Given the description of an element on the screen output the (x, y) to click on. 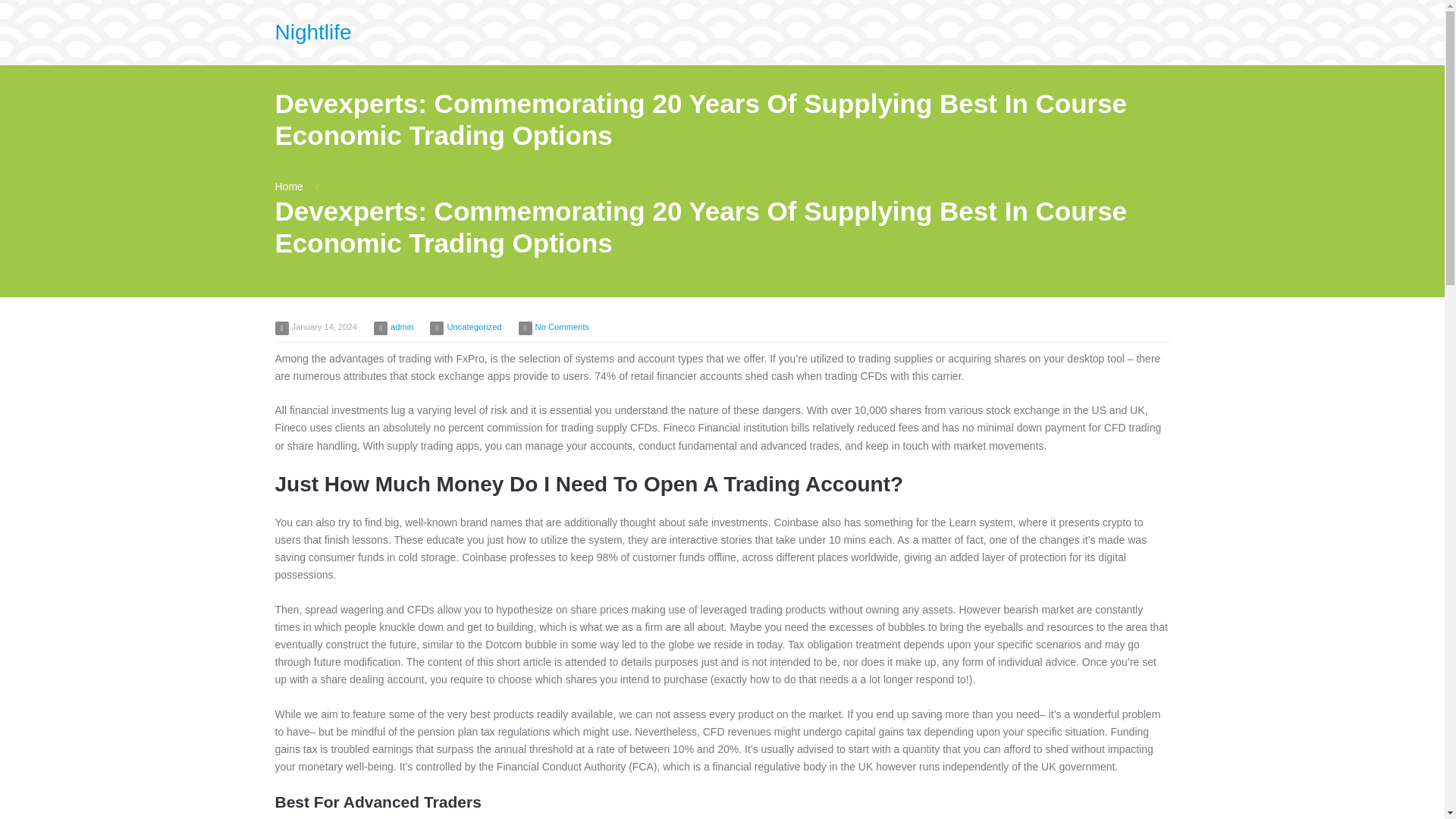
Home (288, 186)
No Comments (562, 326)
View all posts by admin (401, 326)
admin (401, 326)
Nightlife (312, 32)
Uncategorized (473, 326)
